Given the description of an element on the screen output the (x, y) to click on. 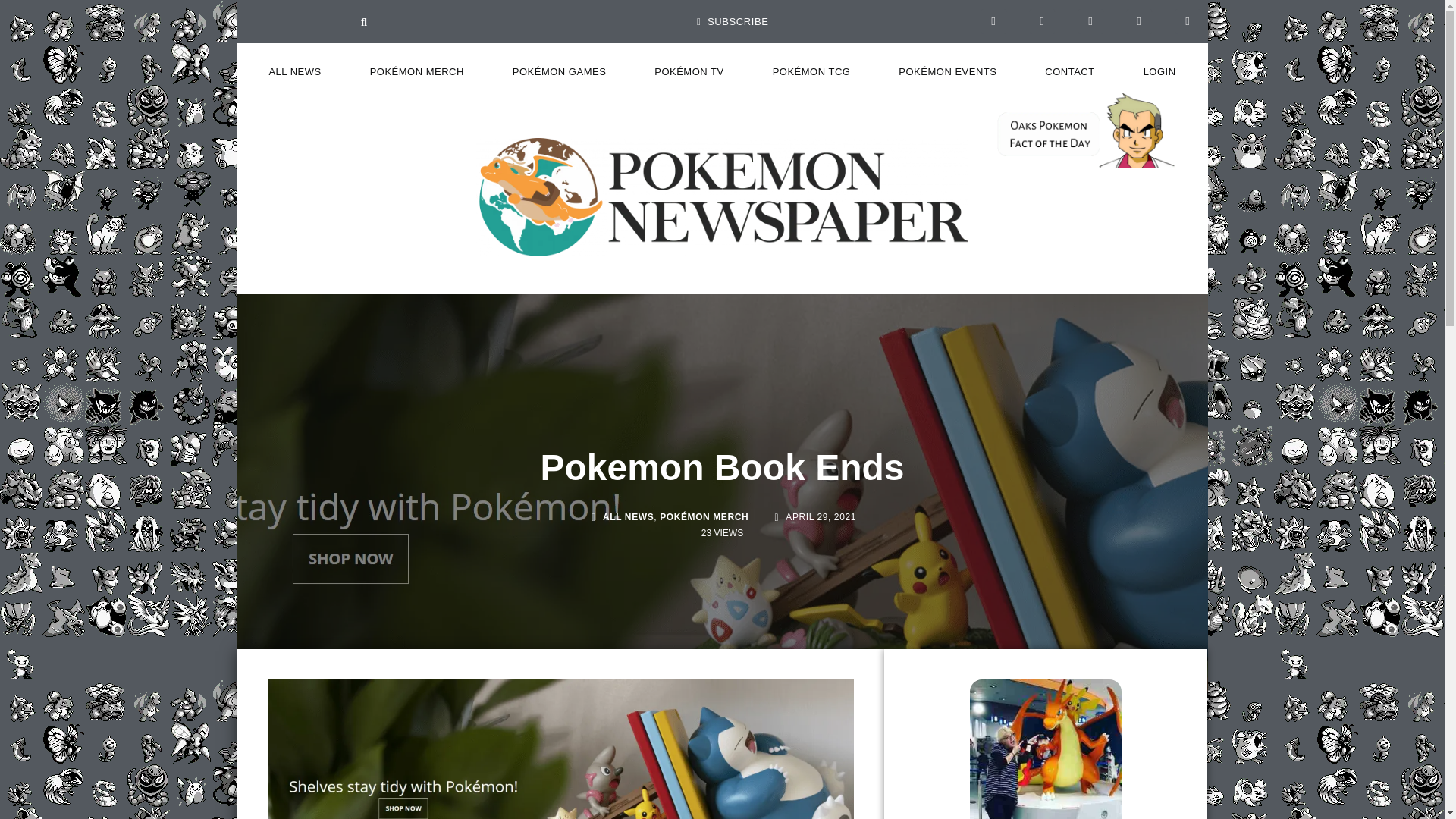
ALL NEWS (294, 71)
SUBSCRIBE (731, 21)
LOGIN (1159, 71)
CONTACT (1069, 71)
